Given the description of an element on the screen output the (x, y) to click on. 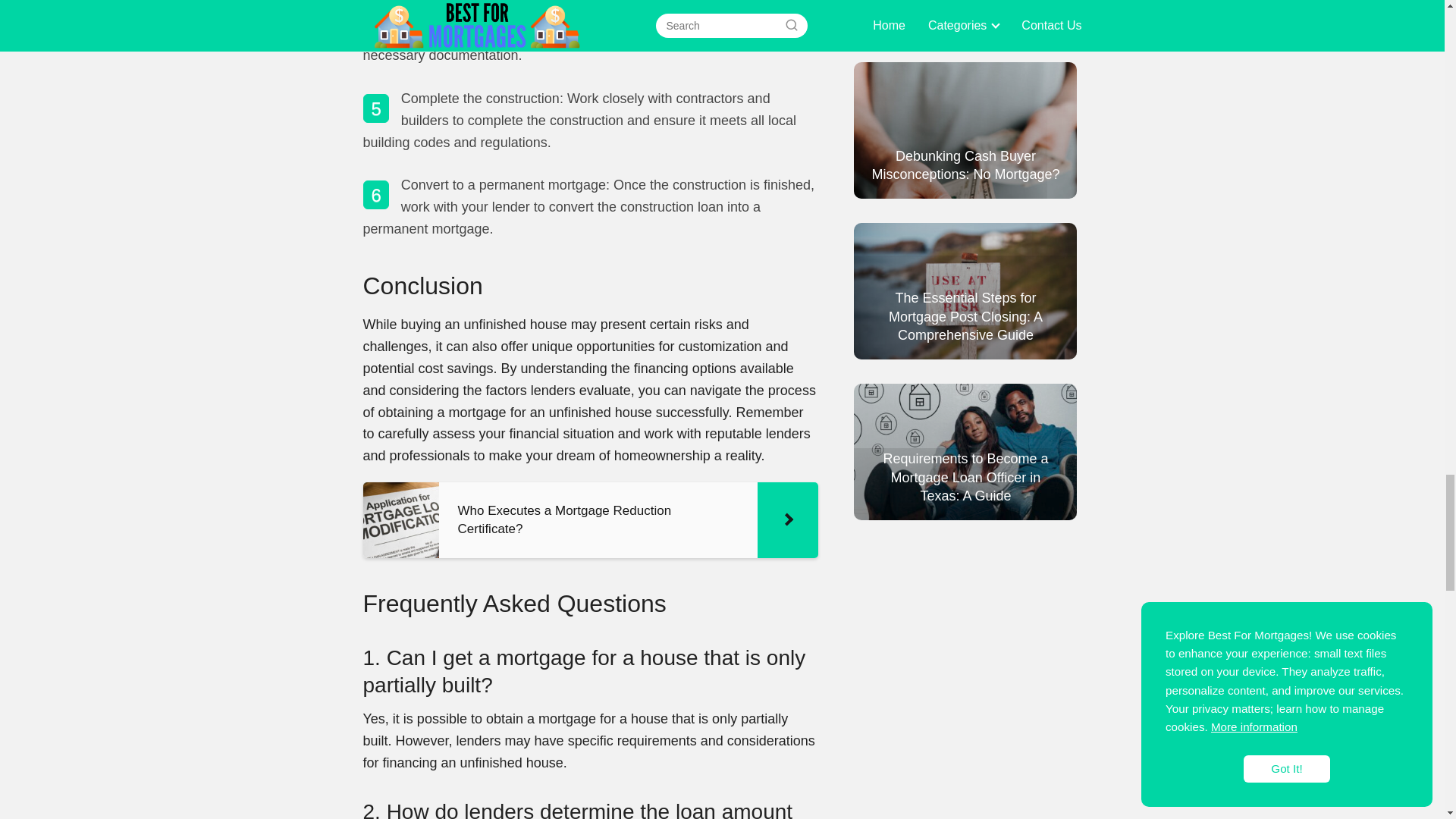
Who Executes a Mortgage Reduction Certificate? (590, 519)
